Given the description of an element on the screen output the (x, y) to click on. 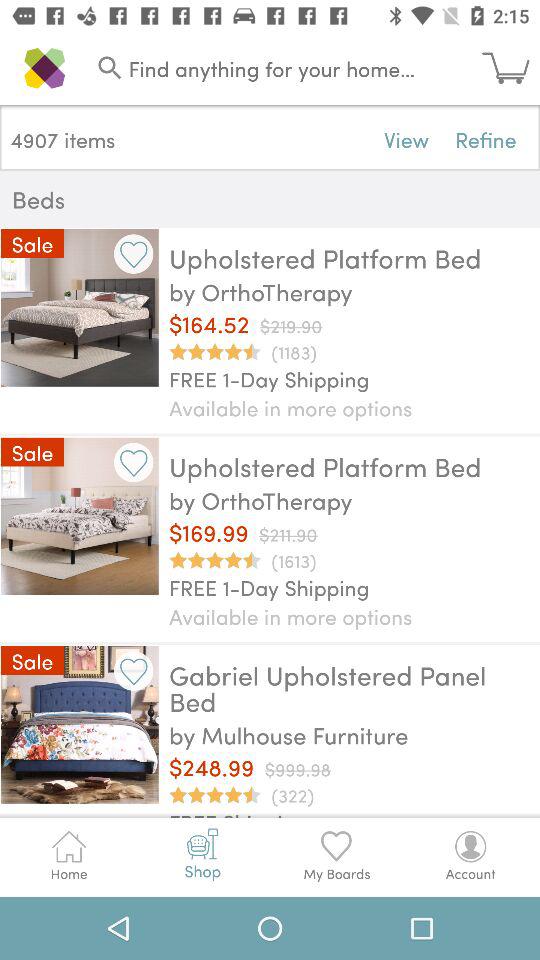
toggle select option (133, 670)
